Given the description of an element on the screen output the (x, y) to click on. 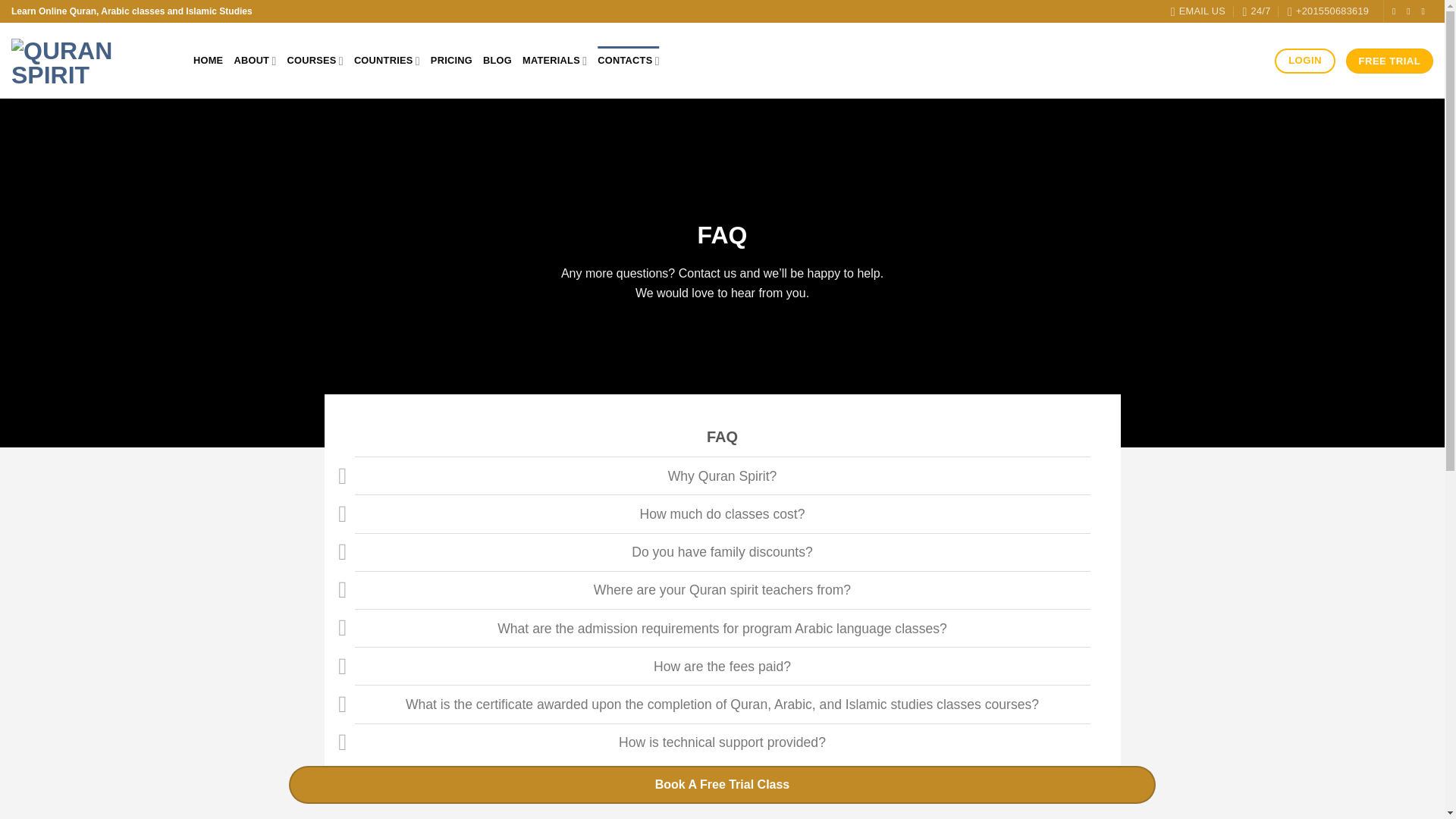
COURSES (314, 60)
EMAIL US (1197, 11)
HOME (207, 60)
ABOUT (254, 60)
Quran Spirit - Learn Quran Online at Home (90, 60)
